Given the description of an element on the screen output the (x, y) to click on. 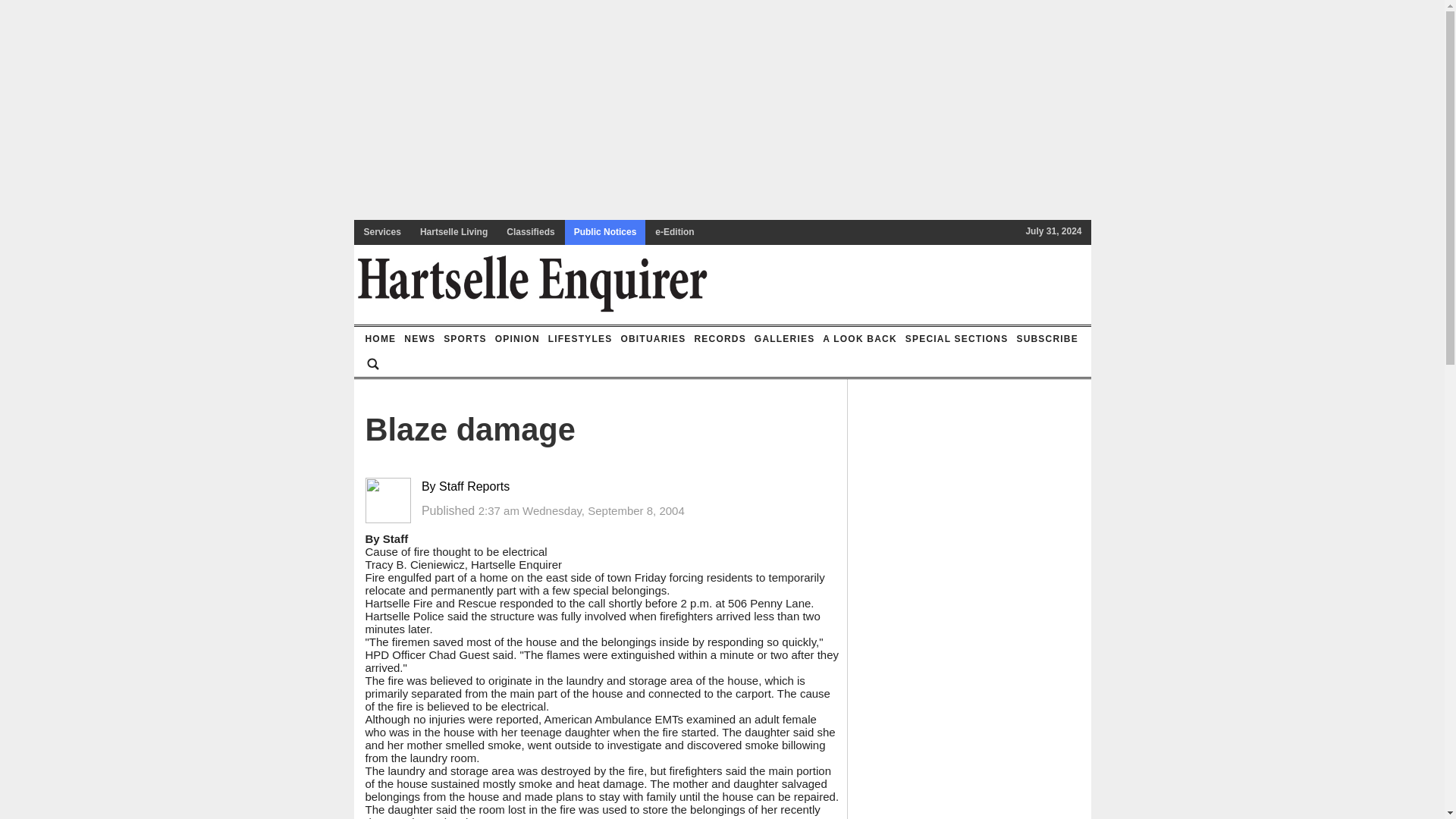
Services (382, 232)
Public Notices (605, 232)
Hartselle Living (453, 232)
Classifieds (530, 232)
e-Edition (674, 232)
